Given the description of an element on the screen output the (x, y) to click on. 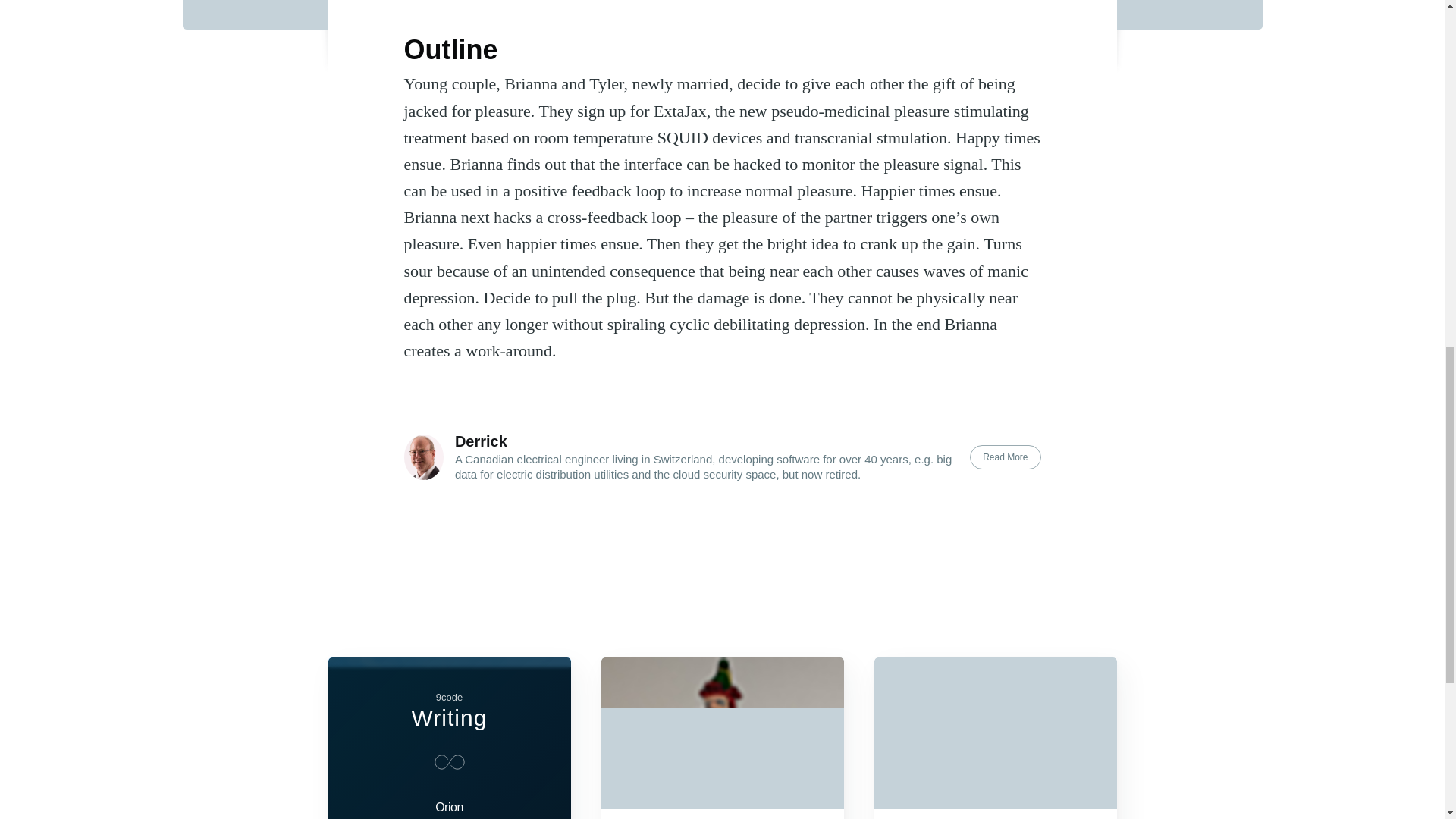
Portrait (994, 733)
Kindlifresserbrunnen (721, 733)
Derrick (480, 441)
Writing (449, 717)
Orion (449, 805)
Read More (1005, 457)
